Given the description of an element on the screen output the (x, y) to click on. 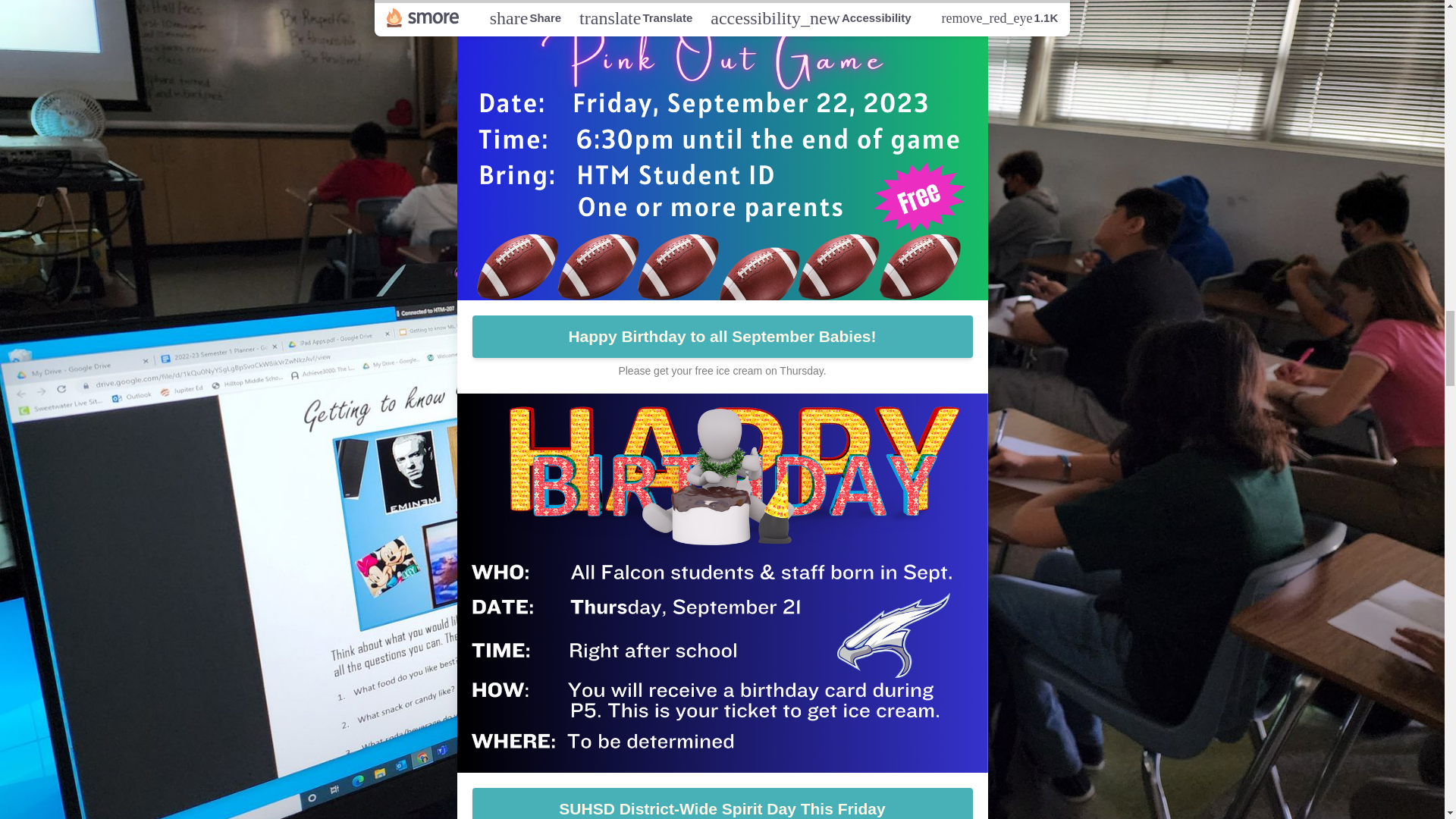
Happy Birthday to all September Babies! (721, 336)
SUHSD District-Wide Spirit Day This Friday (721, 803)
